Given the description of an element on the screen output the (x, y) to click on. 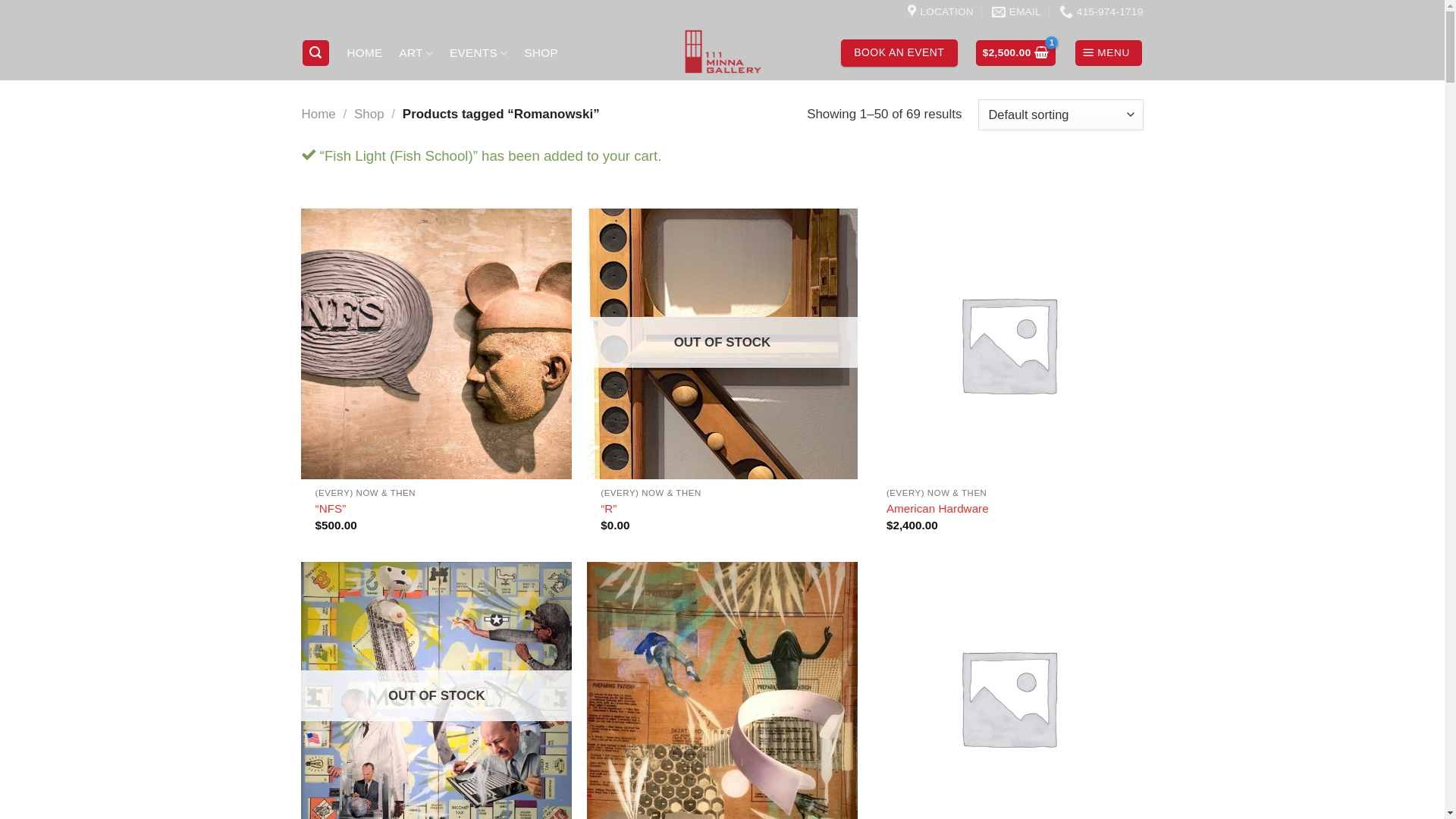
SHOP Element type: text (540, 52)
$2,500.00 Element type: text (1015, 53)
Home Element type: text (318, 113)
EMAIL Element type: text (1016, 12)
HOME Element type: text (364, 52)
Skip to content Element type: text (0, 0)
ART Element type: text (415, 52)
Shop Element type: text (369, 113)
EVENTS Element type: text (478, 52)
LOCATION Element type: text (940, 12)
American Hardware Element type: text (937, 508)
MENU Element type: text (1108, 53)
415-974-1719 Element type: text (1101, 12)
BOOK AN EVENT Element type: text (898, 52)
